Given the description of an element on the screen output the (x, y) to click on. 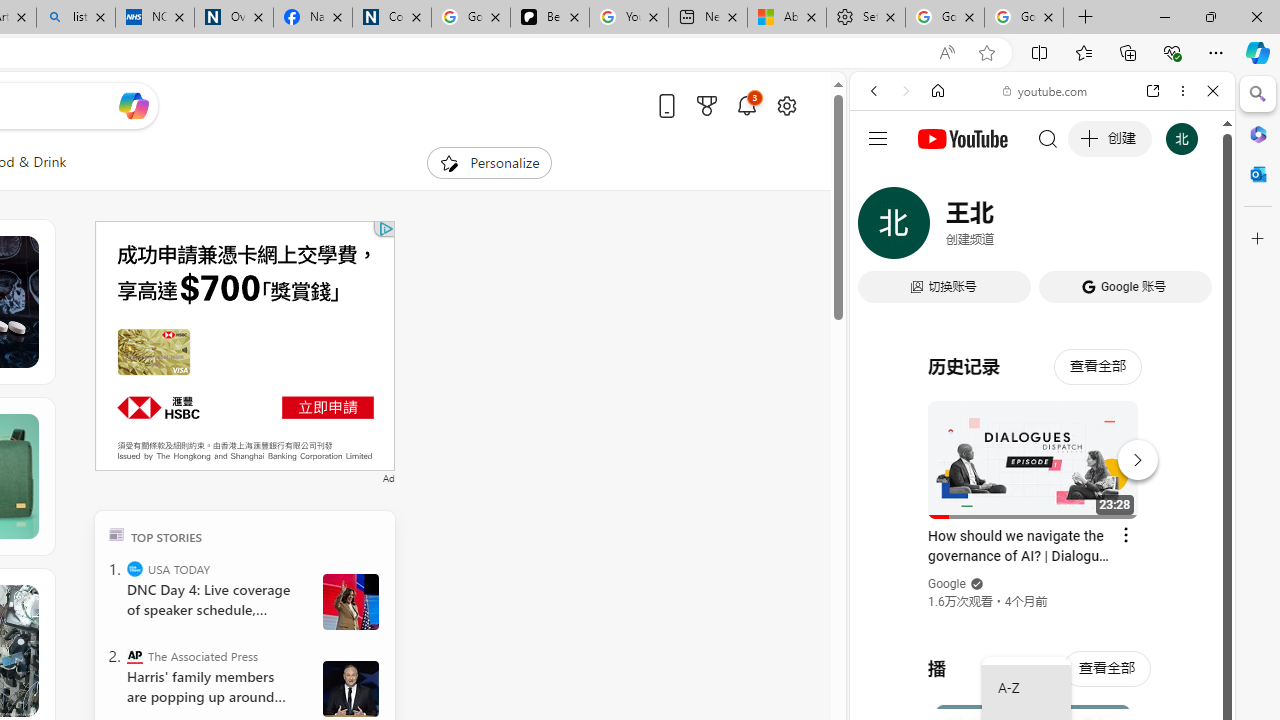
Class: qc-adchoices-link top-right  (385, 228)
This site scope (936, 180)
A-Z (1026, 688)
WEB   (882, 228)
#you (1042, 445)
YouTube (1034, 296)
Google (947, 584)
Search videos from youtube.com (1005, 657)
Music (1042, 543)
